Given the description of an element on the screen output the (x, y) to click on. 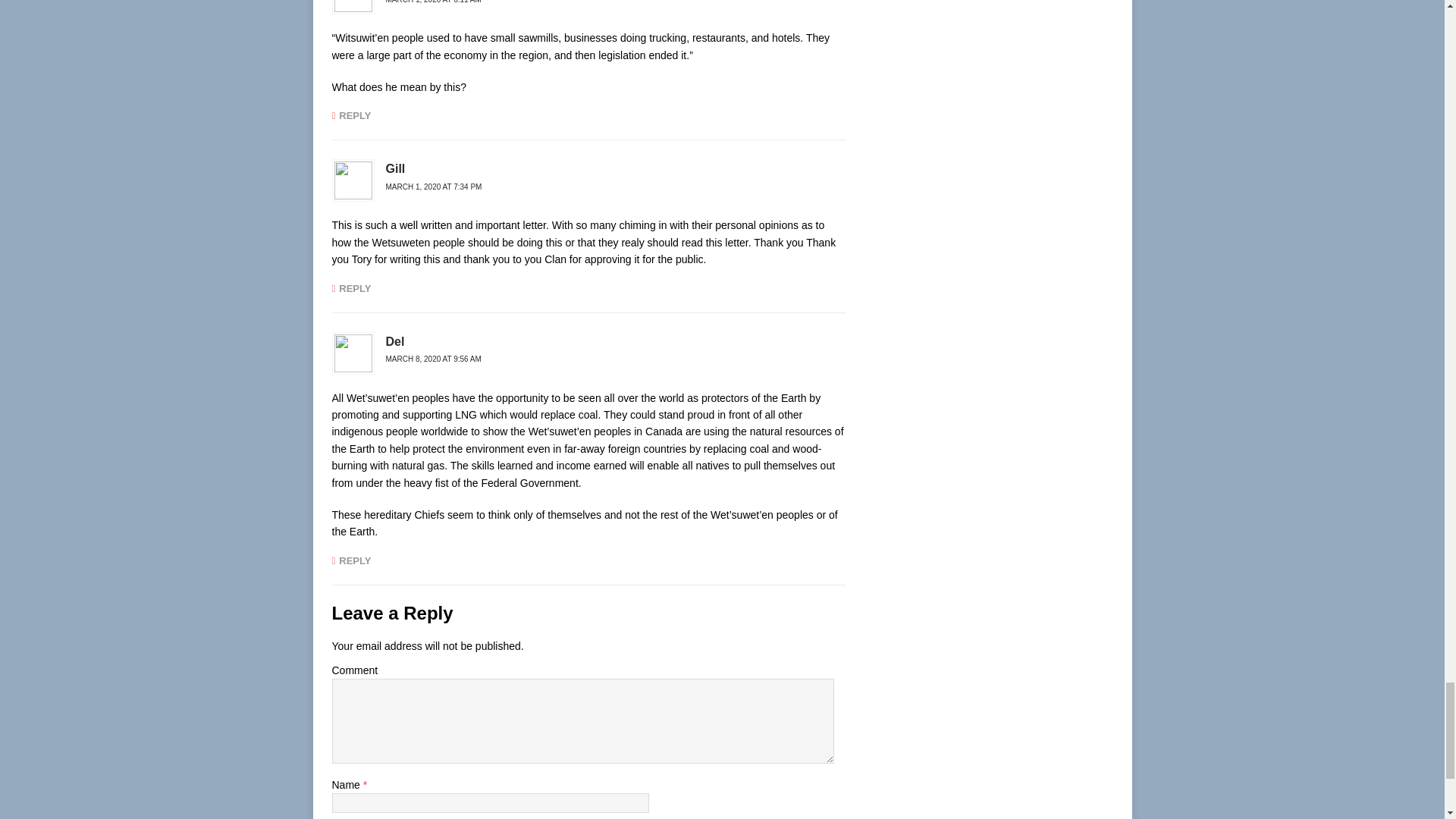
REPLY (351, 288)
REPLY (351, 115)
MARCH 1, 2020 AT 6:11 AM (432, 2)
MARCH 1, 2020 AT 7:34 PM (433, 186)
MARCH 8, 2020 AT 9:56 AM (432, 358)
REPLY (351, 560)
